Given the description of an element on the screen output the (x, y) to click on. 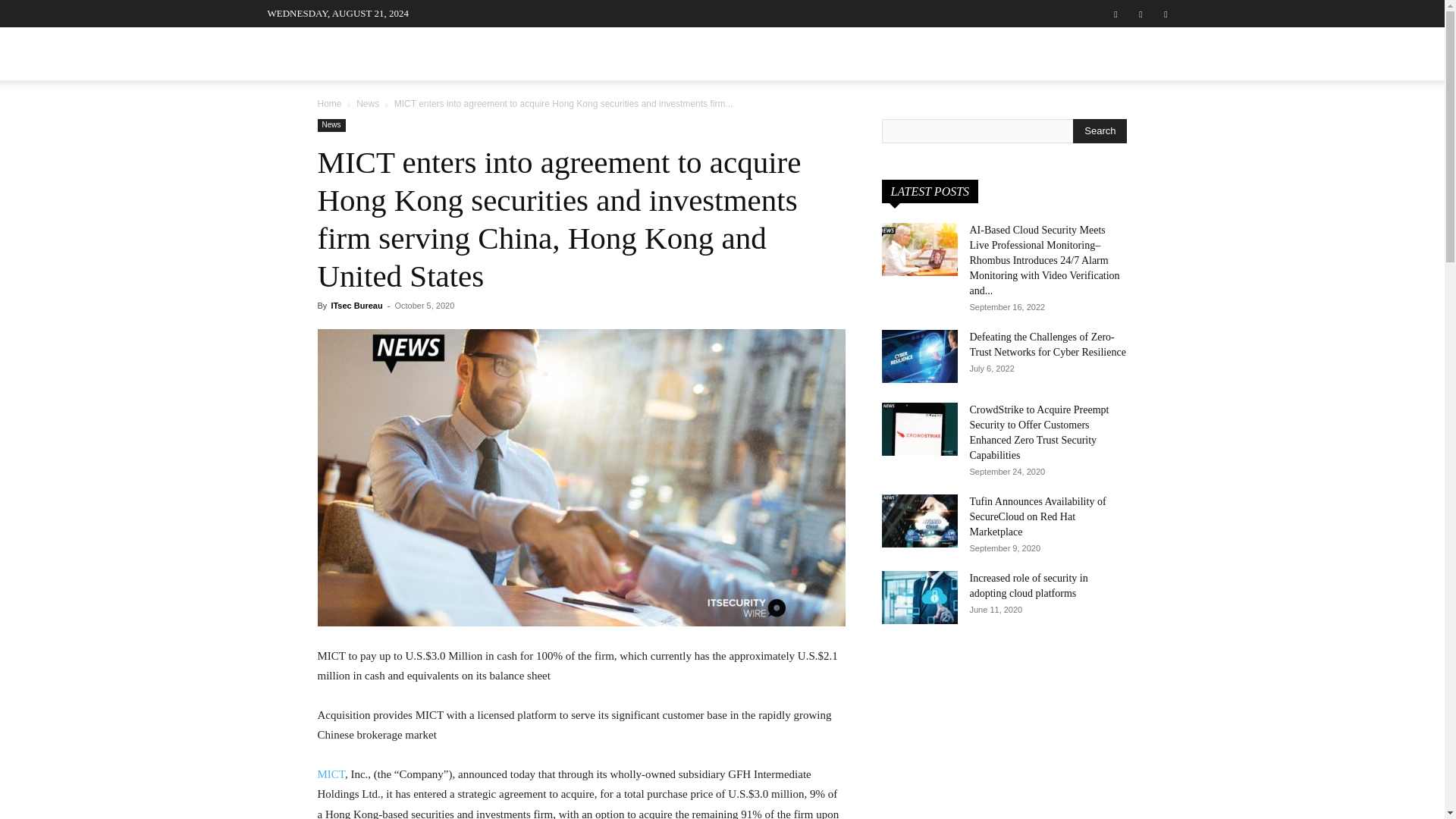
News (367, 103)
PODCASTS (694, 53)
INSIGHTS (778, 53)
QUICK BYTES (883, 53)
ITSecurityWire (381, 57)
Search (1099, 130)
Home (328, 103)
View all posts in News (367, 103)
ARTICLES (610, 53)
News (331, 124)
